Given the description of an element on the screen output the (x, y) to click on. 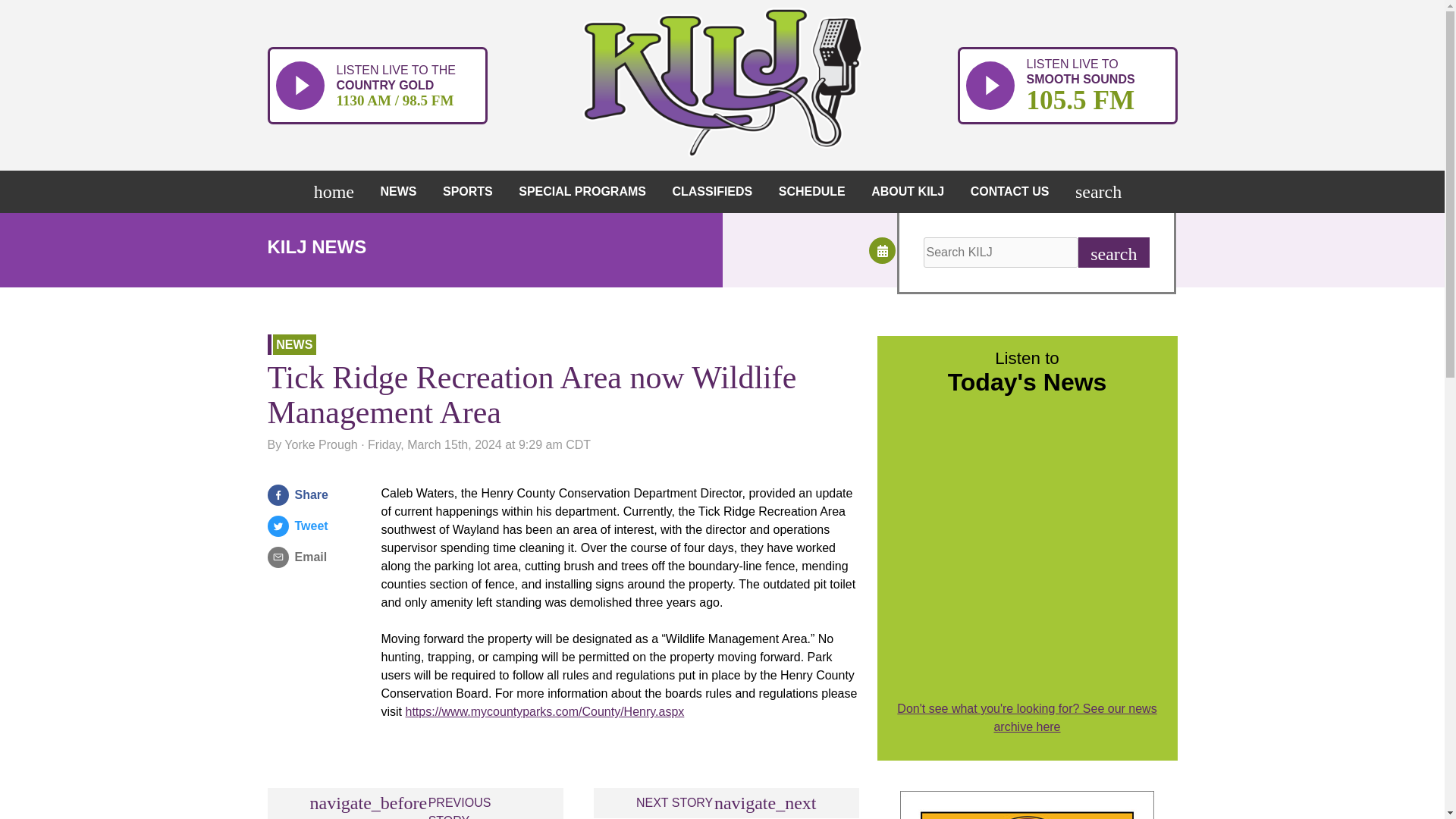
NEWS (402, 191)
SPORTS (472, 191)
home (337, 191)
